Given the description of an element on the screen output the (x, y) to click on. 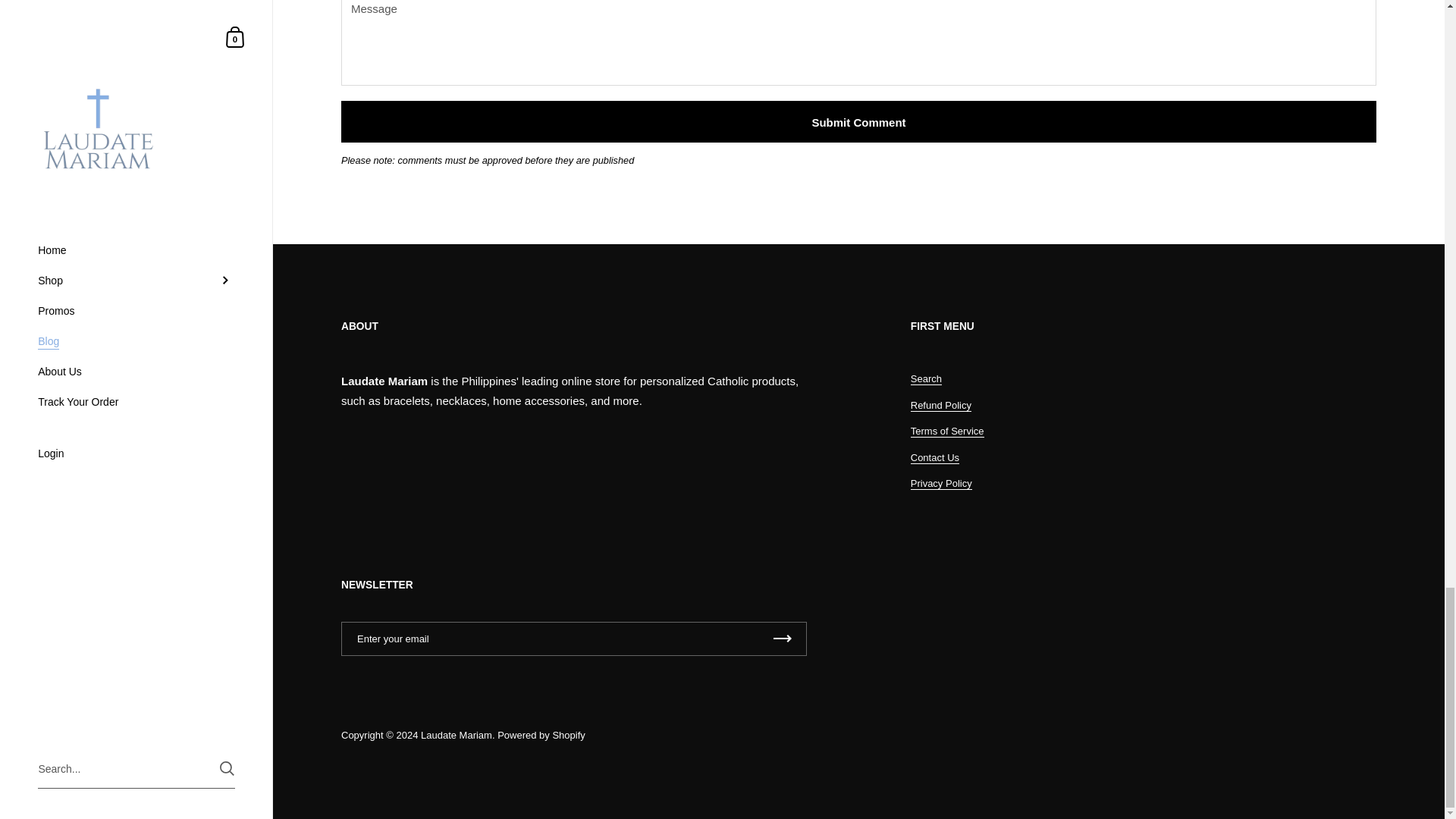
Contact Us (935, 458)
Privacy Policy (941, 483)
Terms of Service (947, 431)
Submit Comment (857, 121)
Submit Comment (857, 121)
Refund Policy (941, 405)
Powered by Shopify (541, 735)
Search (926, 378)
Laudate Mariam (456, 735)
